Given the description of an element on the screen output the (x, y) to click on. 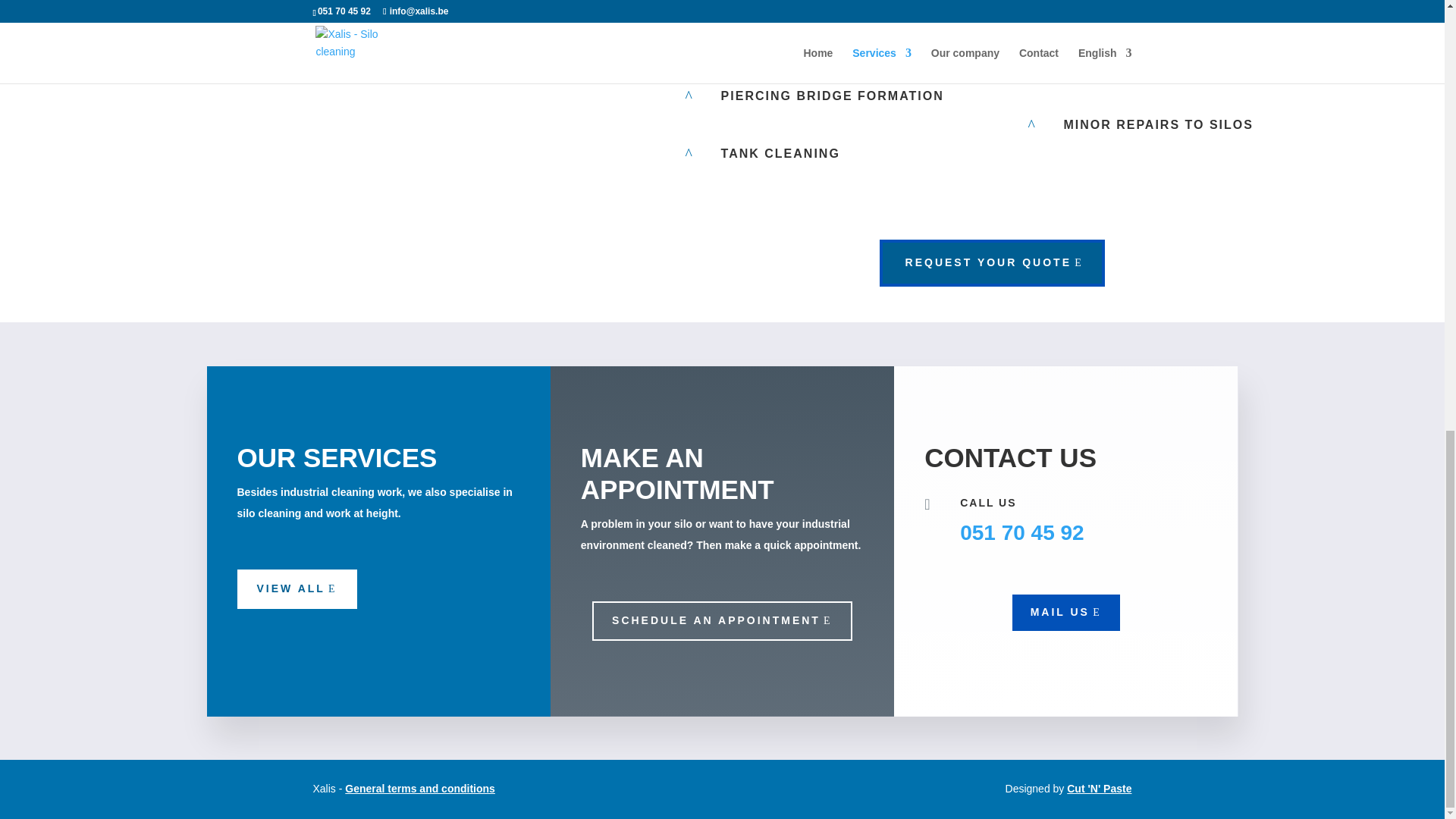
Cut 'N' Paste (1099, 788)
General terms and conditions (420, 788)
General terms and conditions (420, 788)
051 70 45 92 (1021, 532)
051 70 45 92 (1021, 532)
REQUEST YOUR QUOTE (992, 262)
SCHEDULE AN APPOINTMENT (721, 620)
VIEW ALL (295, 589)
MAIL US (1065, 612)
